Given the description of an element on the screen output the (x, y) to click on. 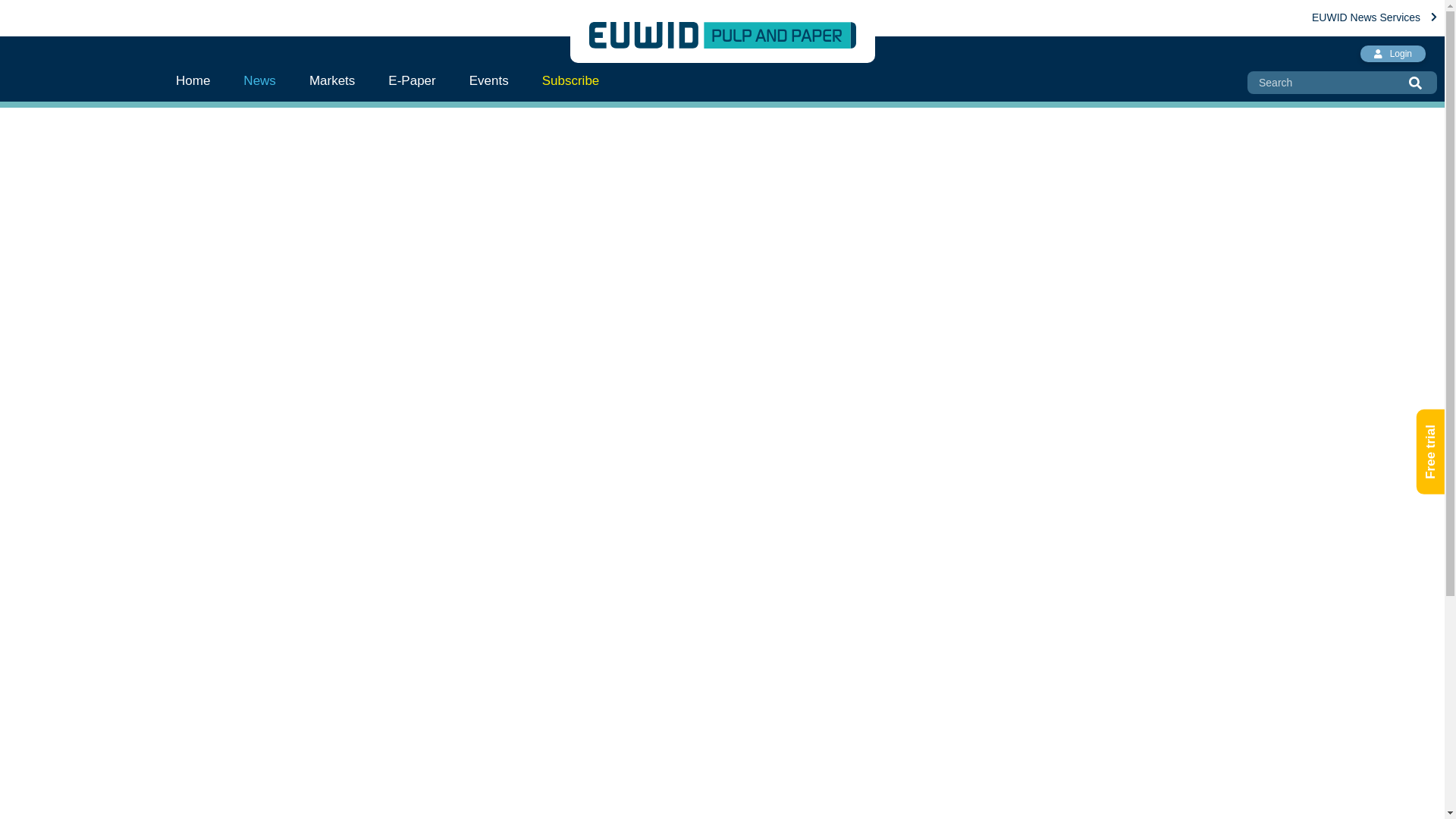
Events (488, 80)
Login (1392, 53)
E-Paper (411, 80)
EUWID News Services (1374, 17)
Markets (331, 80)
Home (201, 80)
Subscribe (570, 80)
News (259, 80)
